Given the description of an element on the screen output the (x, y) to click on. 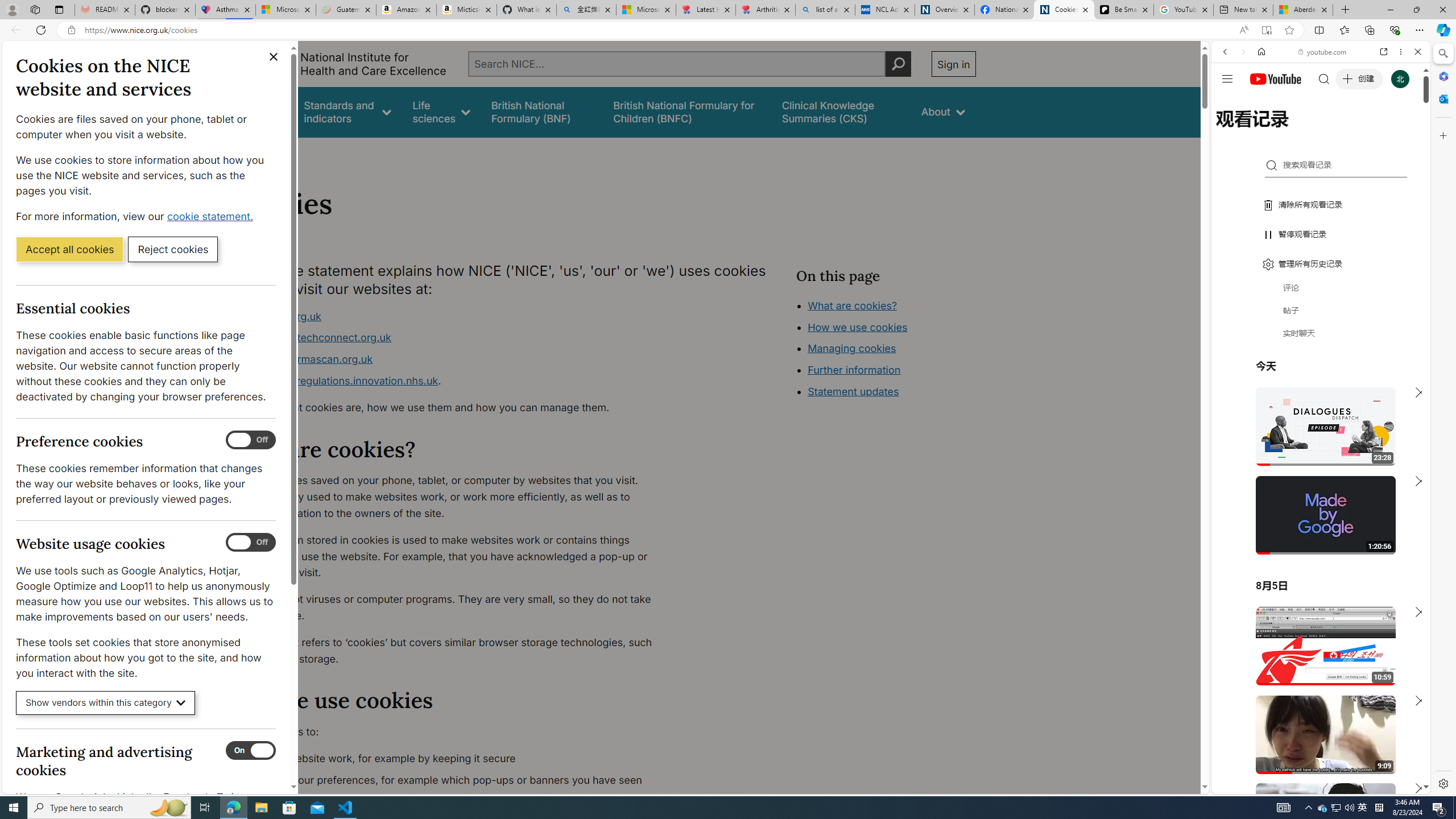
Search videos from youtube.com (1299, 373)
Class: dict_pnIcon rms_img (1312, 784)
Marketing and advertising cookies (250, 750)
Arthritis: Ask Health Professionals (765, 9)
www.digitalregulations.innovation.nhs.uk. (452, 380)
About (283, 152)
Search Filter, WEB (1230, 129)
make our website work, for example by keeping it secure (452, 759)
